Given the description of an element on the screen output the (x, y) to click on. 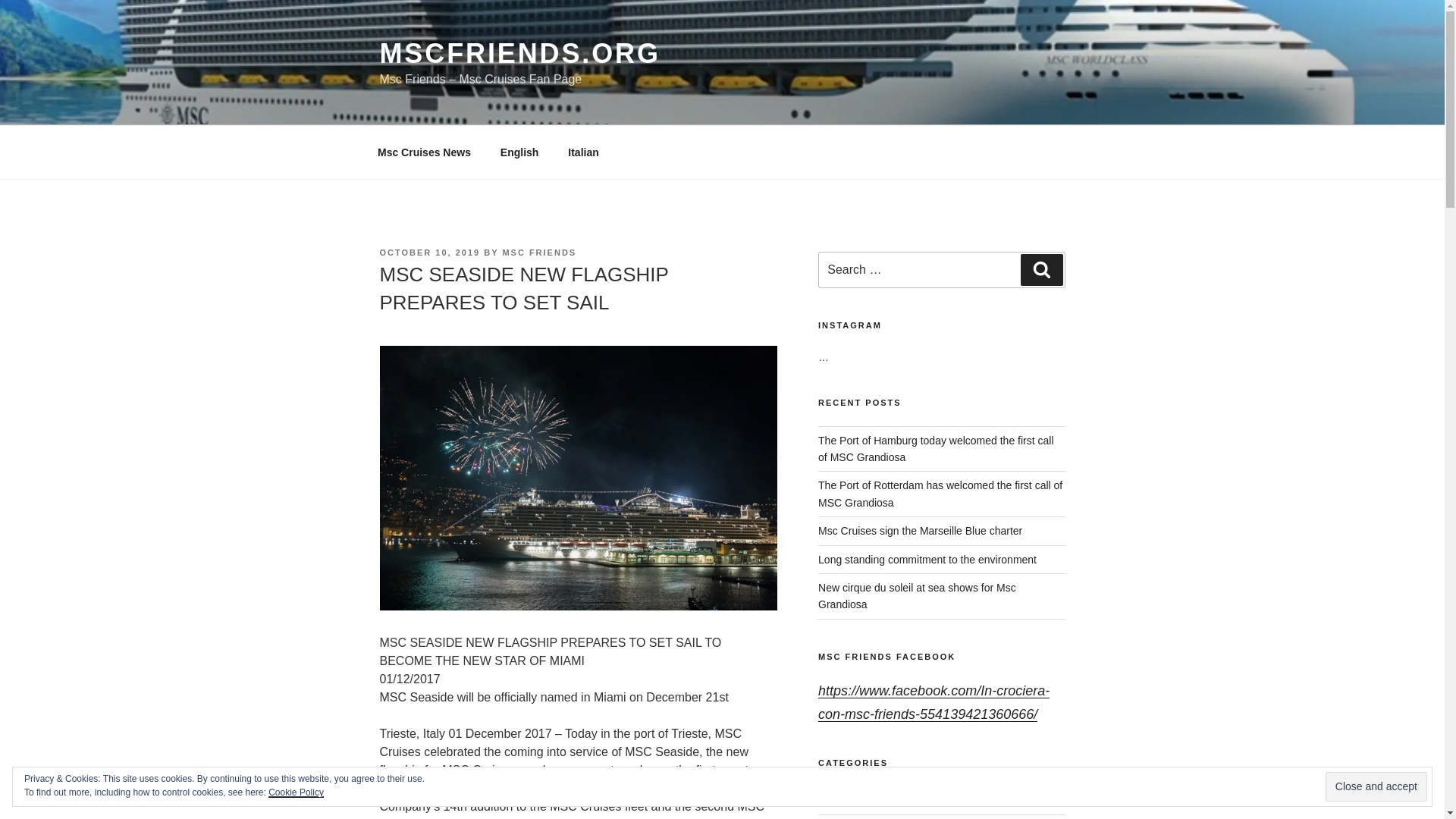
English (518, 151)
Msc Armonia (848, 800)
Close and accept (1375, 786)
MSCFRIENDS.ORG (518, 52)
New cirque du soleil at sea shows for Msc Grandiosa (917, 595)
Msc Armonia (848, 800)
Msc Cruises sign the Marseille Blue charter (920, 530)
MSC FRIENDS (539, 252)
OCTOBER 10, 2019 (429, 252)
Search (1041, 269)
Long standing commitment to the environment (927, 559)
Msc Cruises News (423, 151)
Italian (582, 151)
